Given the description of an element on the screen output the (x, y) to click on. 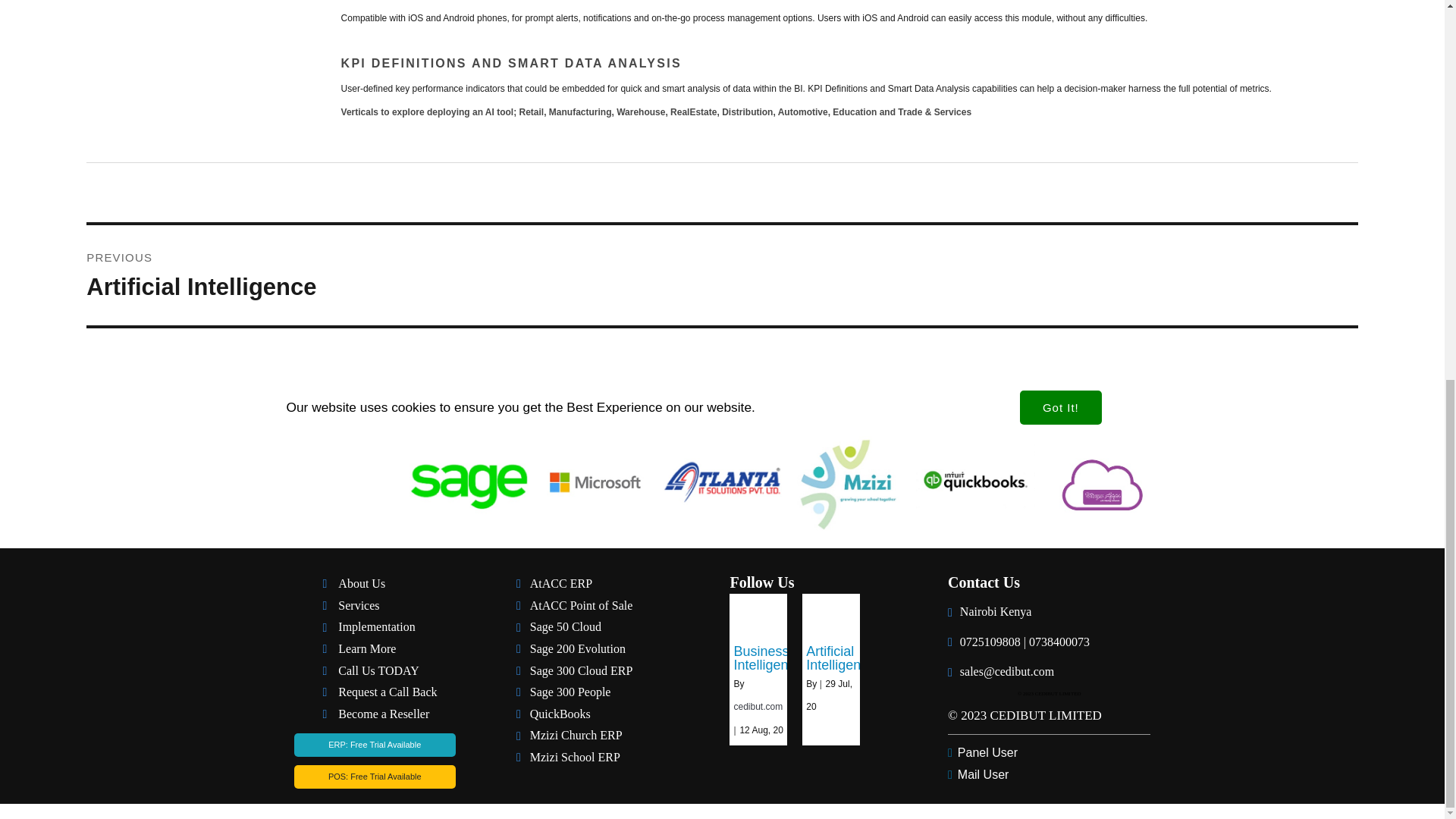
microsoft (720, 275)
Services (595, 484)
sage (389, 606)
download (468, 484)
Implementation (721, 484)
About Us (389, 627)
